Given the description of an element on the screen output the (x, y) to click on. 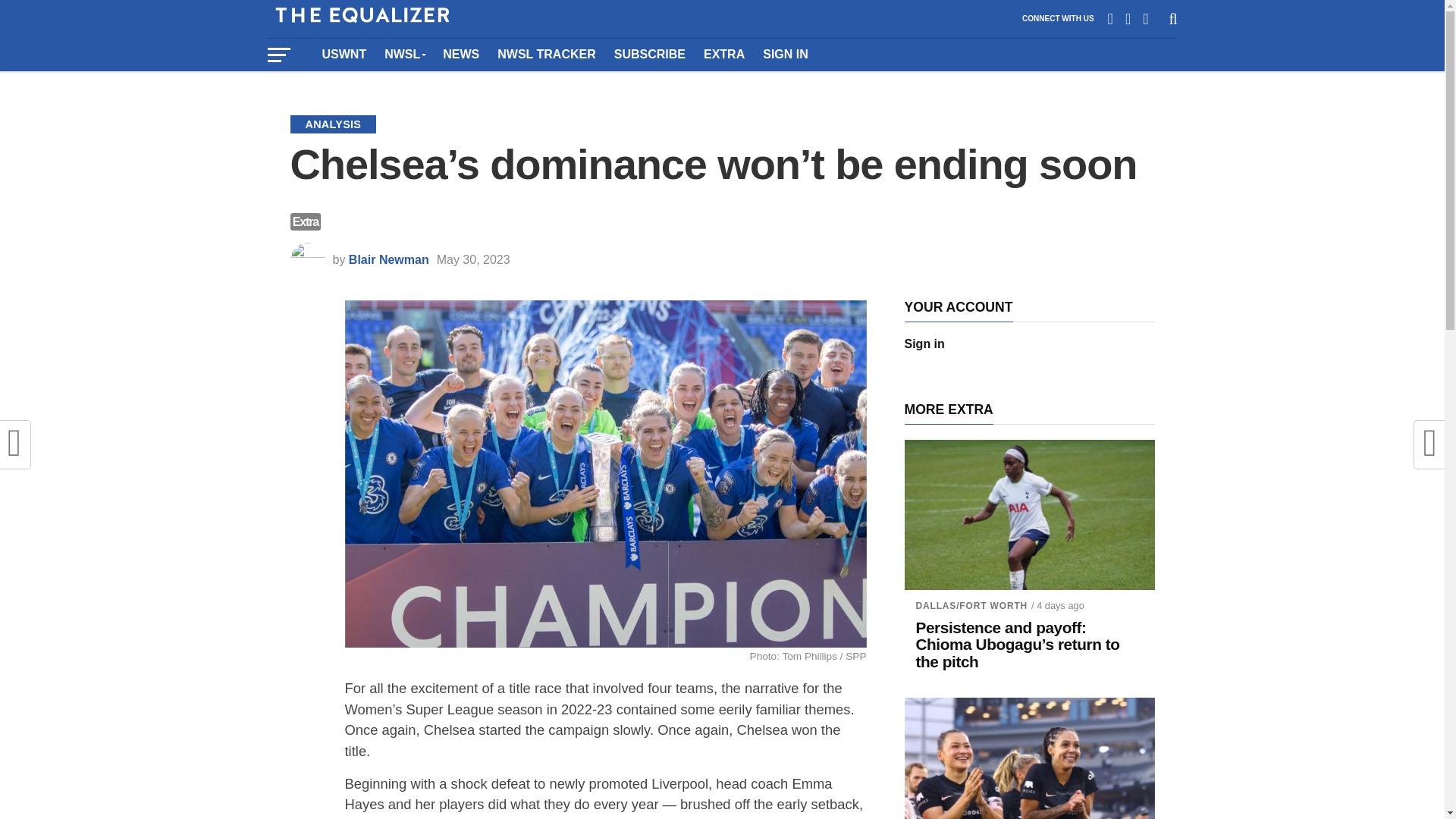
USWNT (344, 54)
Posts by Blair Newman (389, 259)
NWSL (404, 54)
